Given the description of an element on the screen output the (x, y) to click on. 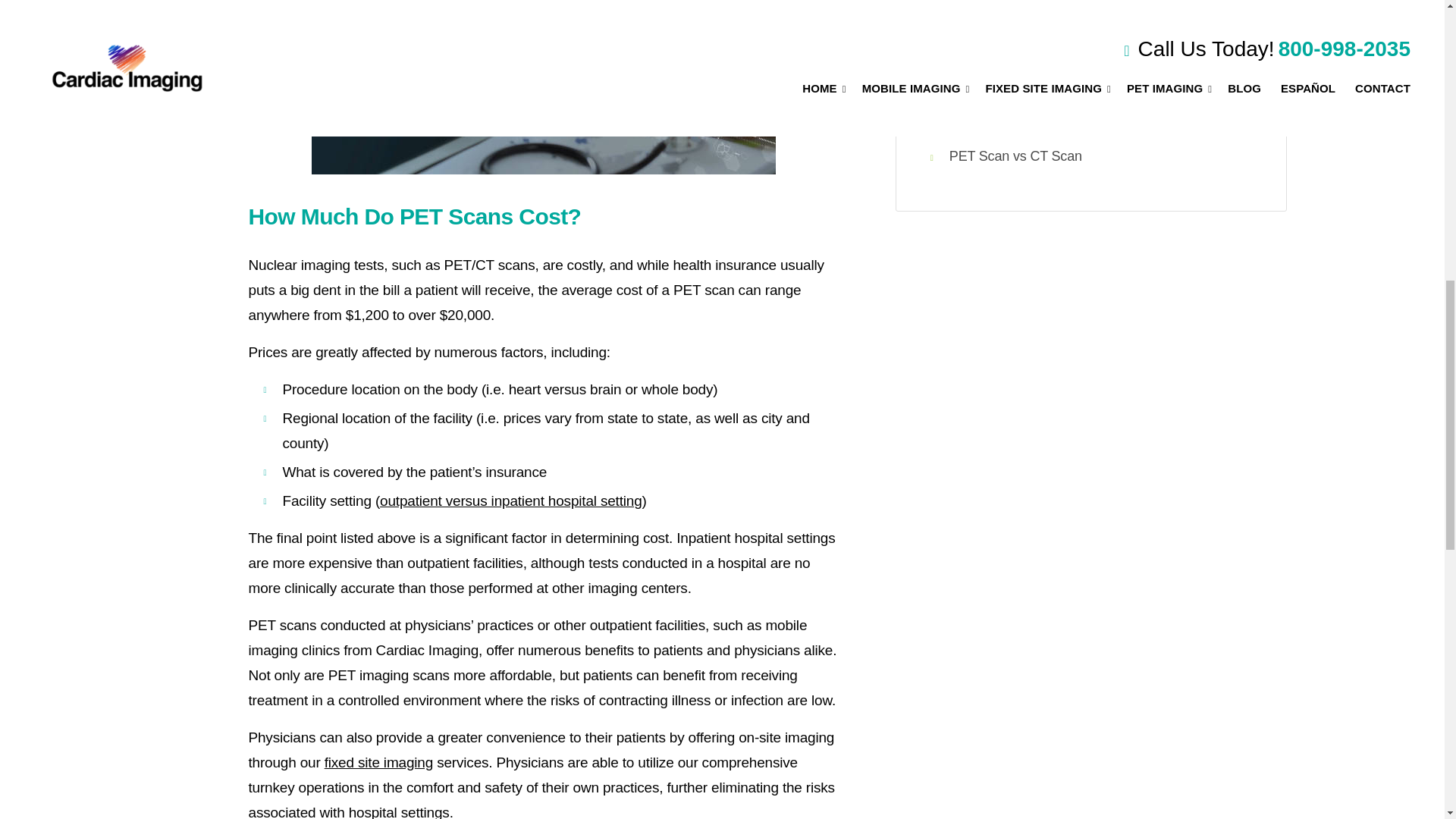
PET Scan vs CT Scan (1015, 156)
fixed site imaging (378, 762)
The Cost of PET Scans for Treatment Planning Efficiency (1100, 20)
outpatient versus inpatient hospital setting (511, 500)
What Does A Cardiac PET Scan Show? (1067, 63)
